Given the description of an element on the screen output the (x, y) to click on. 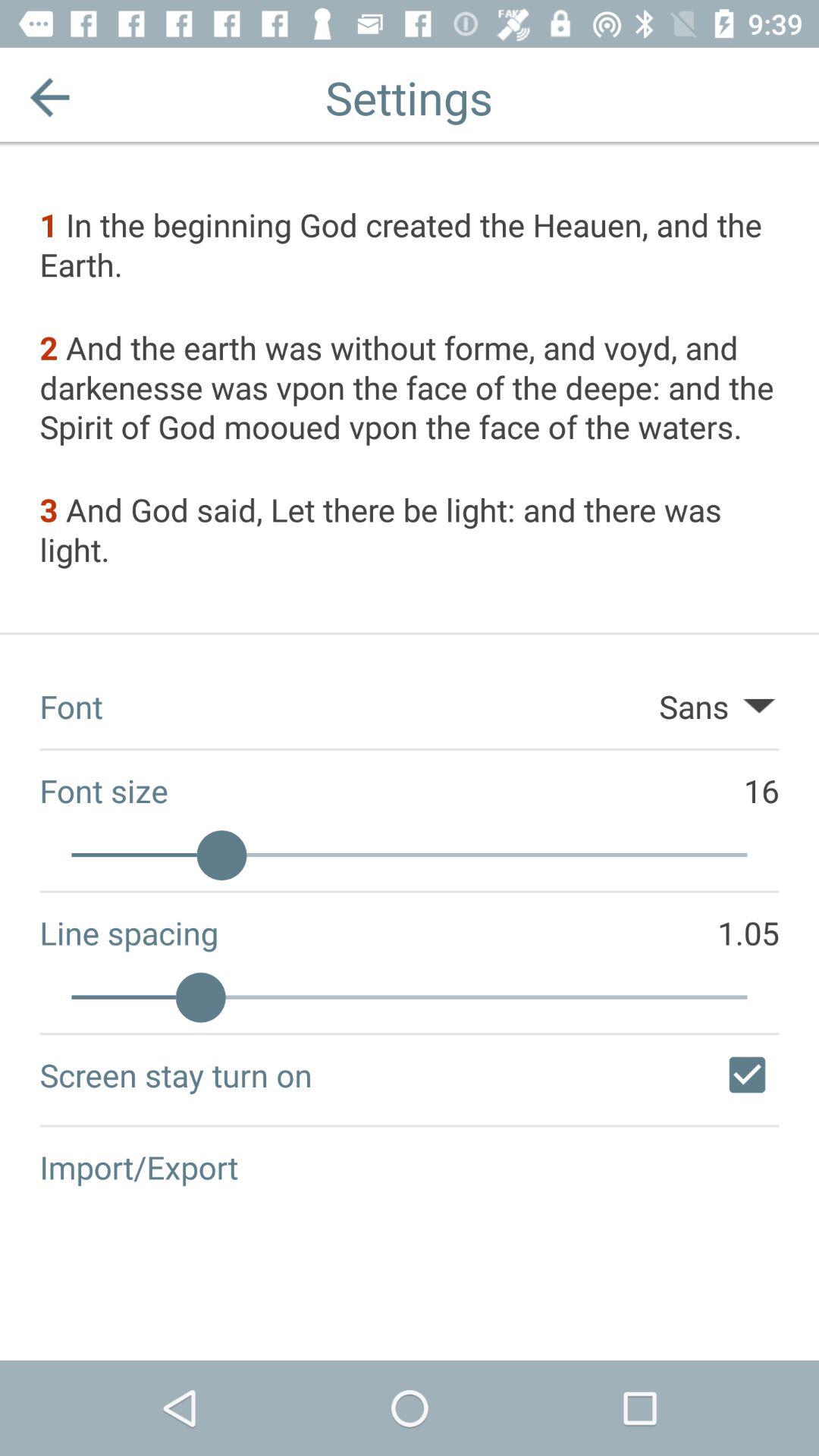
choose icon next to settings (49, 97)
